Given the description of an element on the screen output the (x, y) to click on. 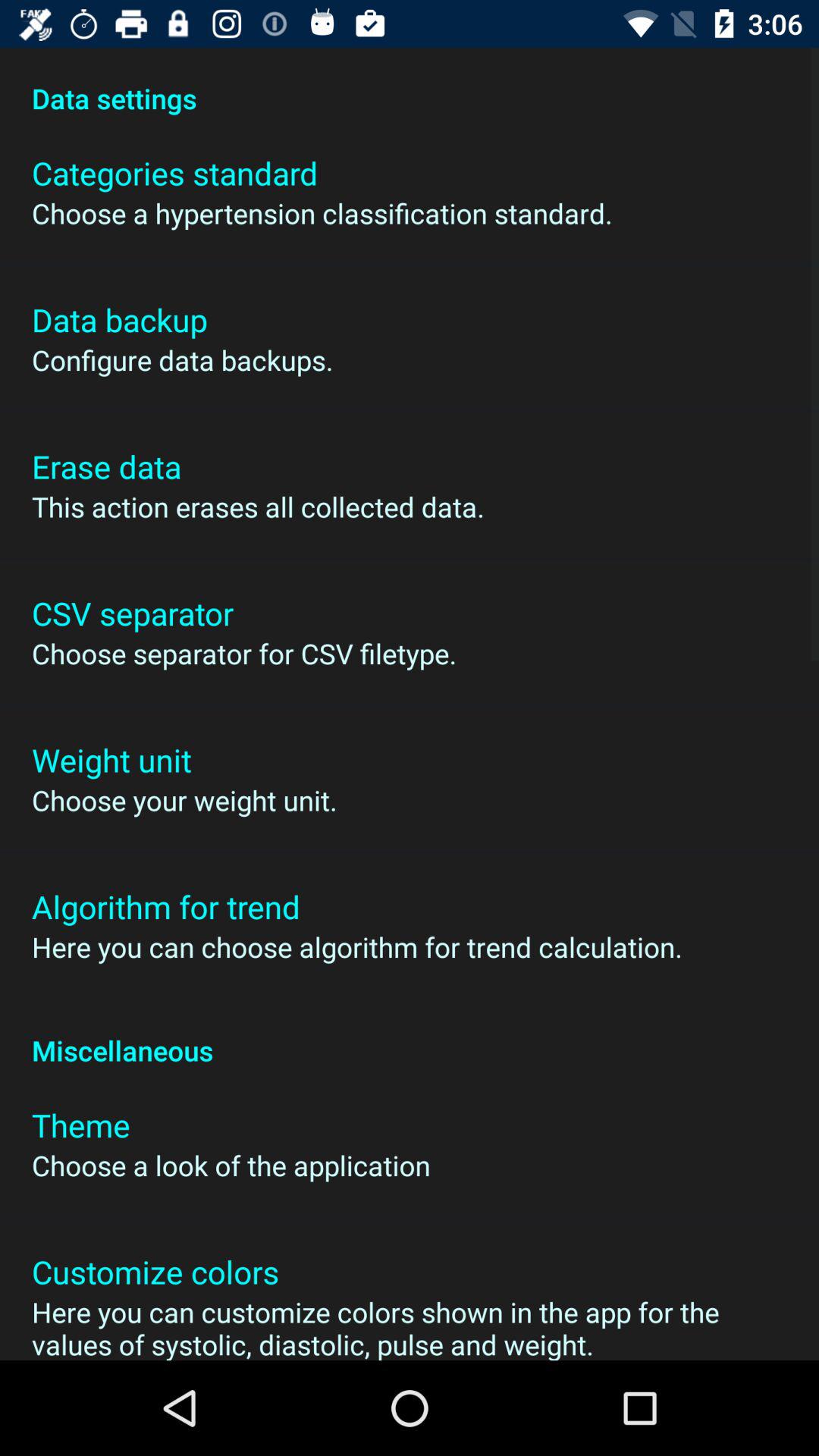
tap the app below miscellaneous icon (80, 1124)
